Given the description of an element on the screen output the (x, y) to click on. 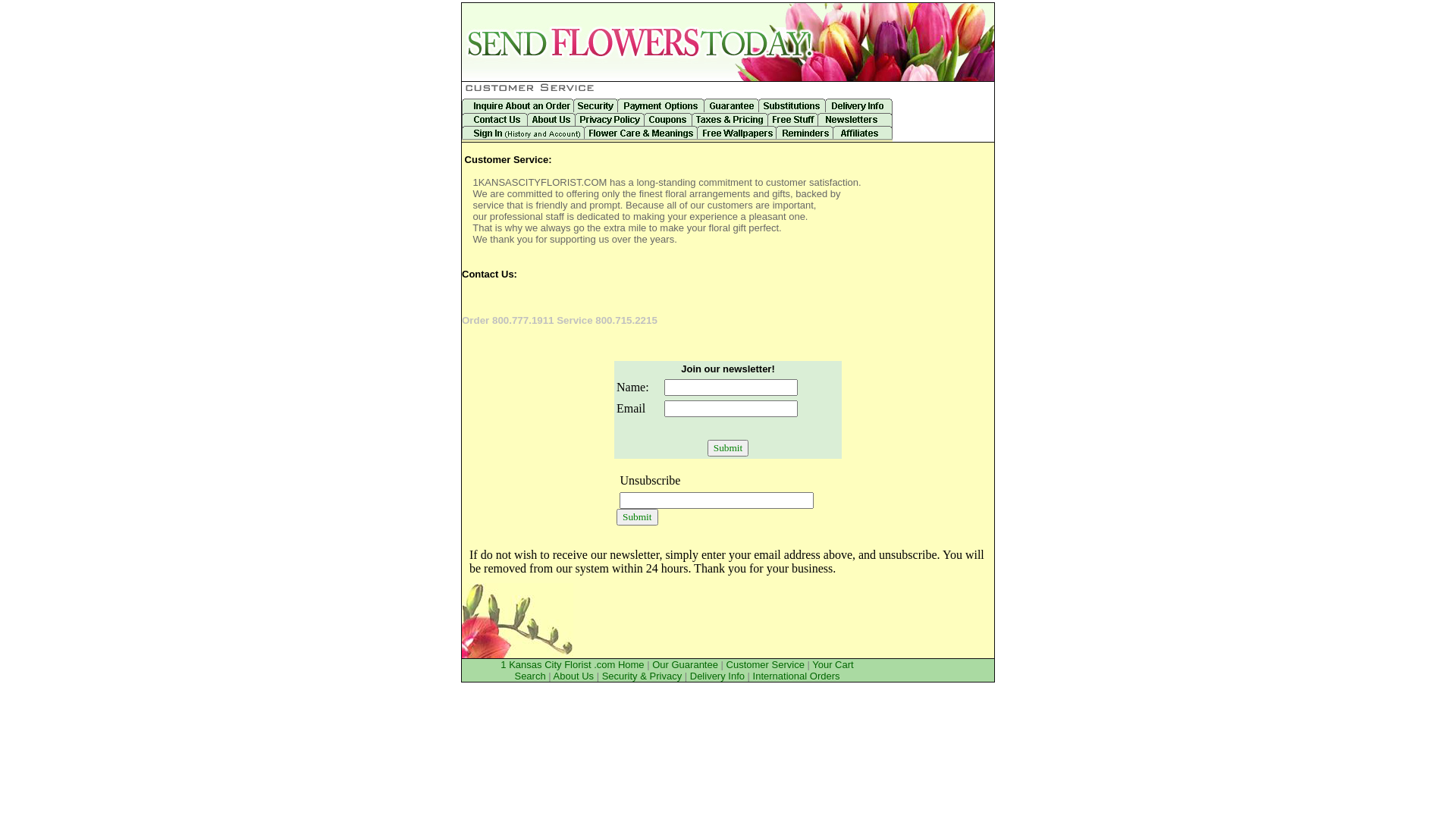
Search Element type: text (529, 675)
Your Cart Element type: text (832, 664)
Submit Element type: text (728, 447)
Our Guarantee Element type: text (685, 664)
Security & Privacy Element type: text (641, 675)
About Us Element type: text (573, 675)
Customer Service Element type: text (765, 664)
Delivery Info Element type: text (717, 675)
International Orders Element type: text (796, 675)
1 Kansas City Florist .com Home Element type: text (571, 664)
Submit Element type: text (637, 516)
